Given the description of an element on the screen output the (x, y) to click on. 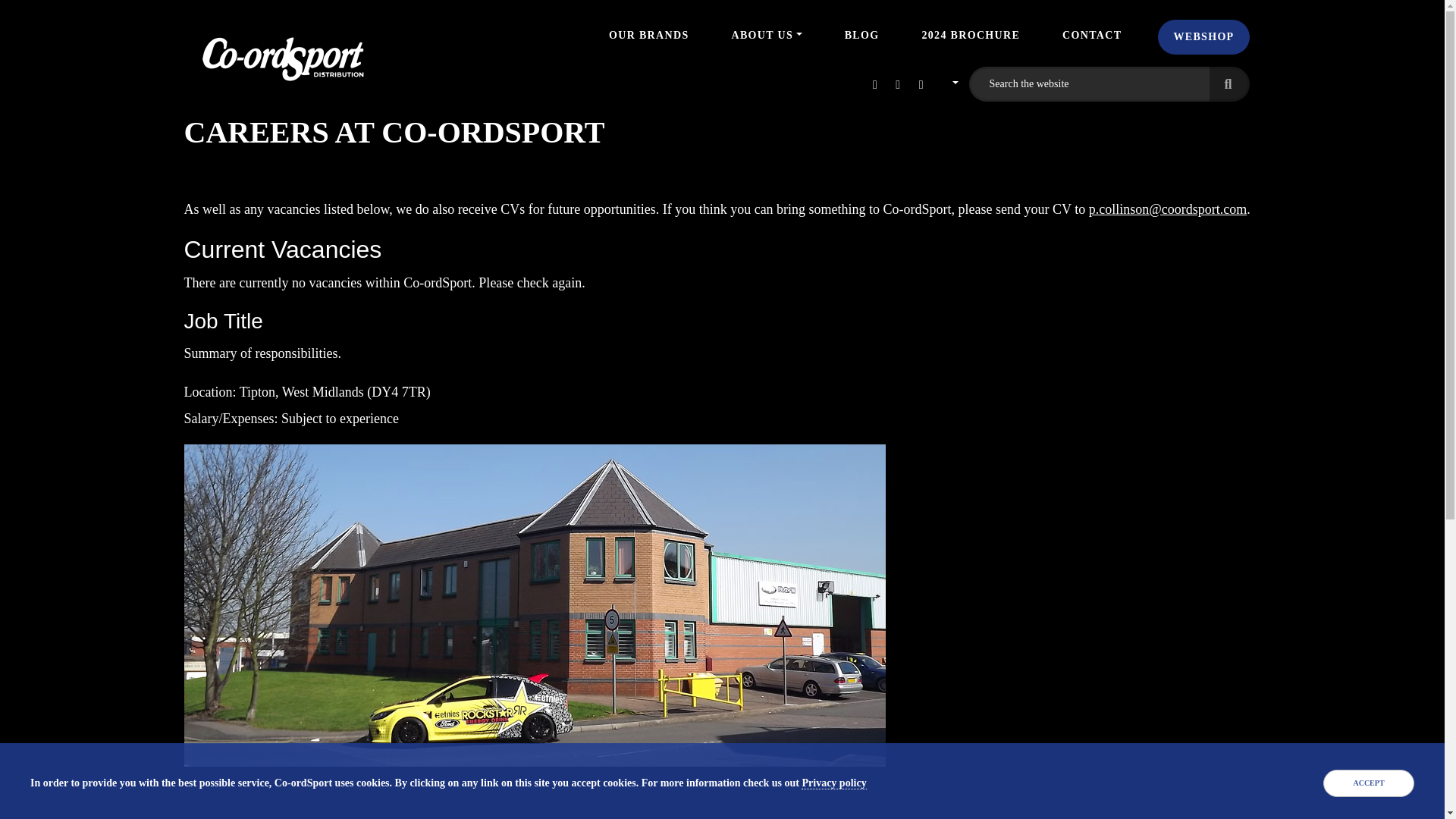
ACCEPT (1368, 782)
ABOUT US (766, 35)
2024 BROCHURE (970, 35)
WEBSHOP (1203, 36)
Privacy policy (834, 783)
Webshop (1203, 36)
2024 Brochure (970, 35)
OUR BRANDS (648, 35)
Blog (861, 35)
BLOG (861, 35)
About Us (766, 35)
Our Brands (648, 35)
Contact (1091, 35)
CONTACT (1091, 35)
